Given the description of an element on the screen output the (x, y) to click on. 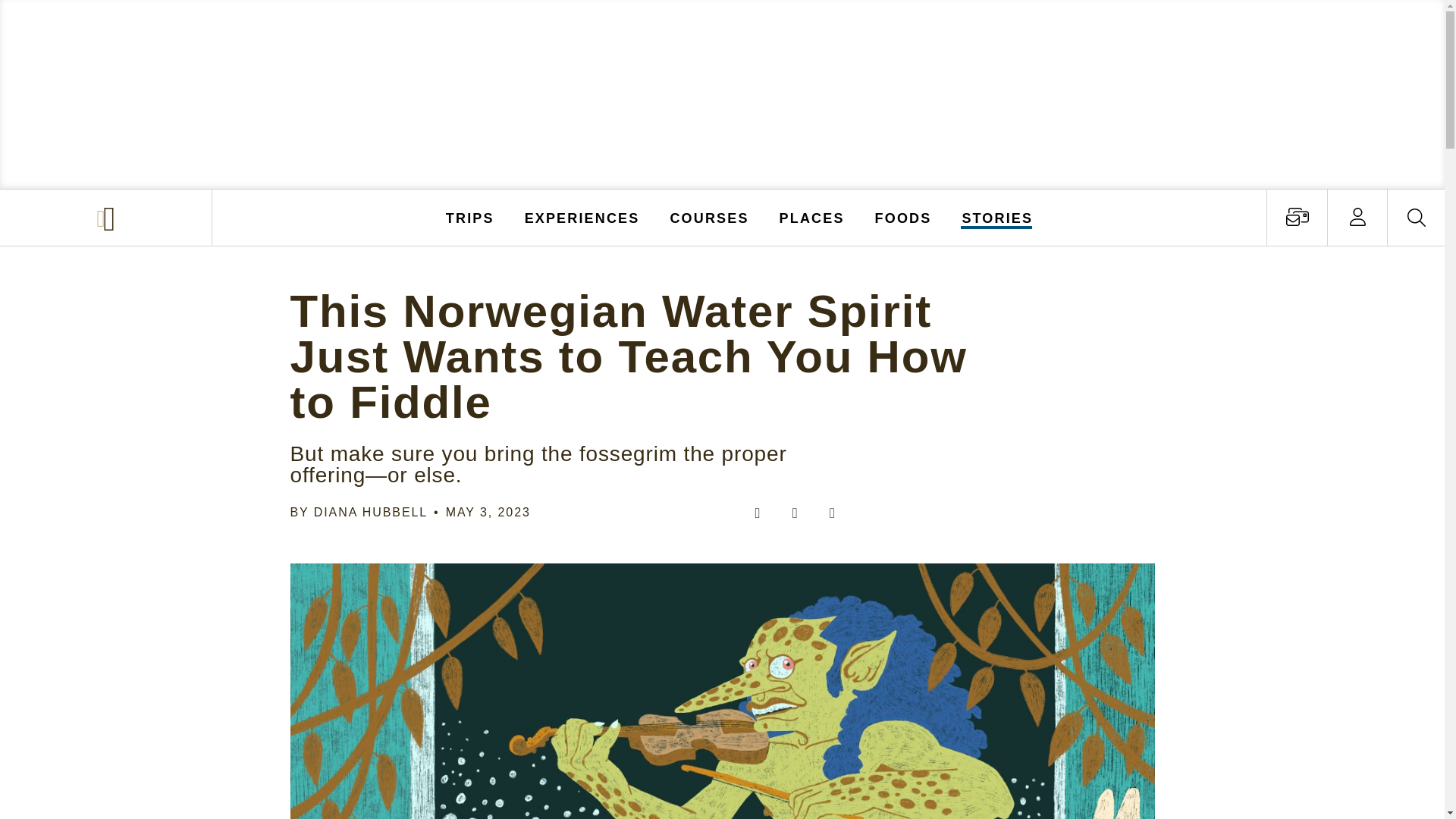
EXPERIENCES (582, 217)
TRIPS (469, 217)
COURSES (707, 217)
PLACES (812, 217)
